Given the description of an element on the screen output the (x, y) to click on. 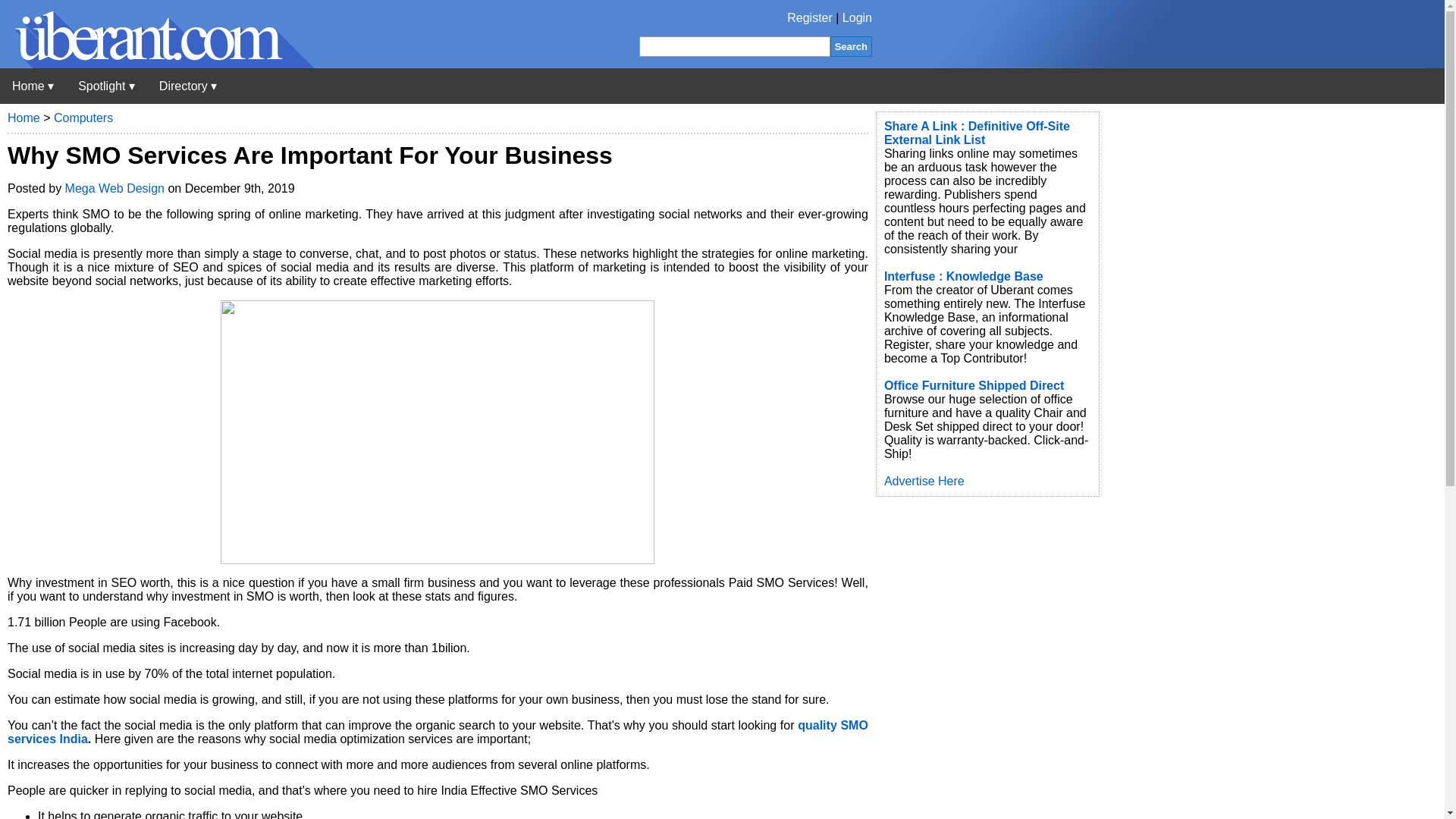
Search (850, 46)
Search (850, 46)
Register (809, 17)
Login (857, 17)
Uberant (32, 85)
Uberant (157, 63)
